Given the description of an element on the screen output the (x, y) to click on. 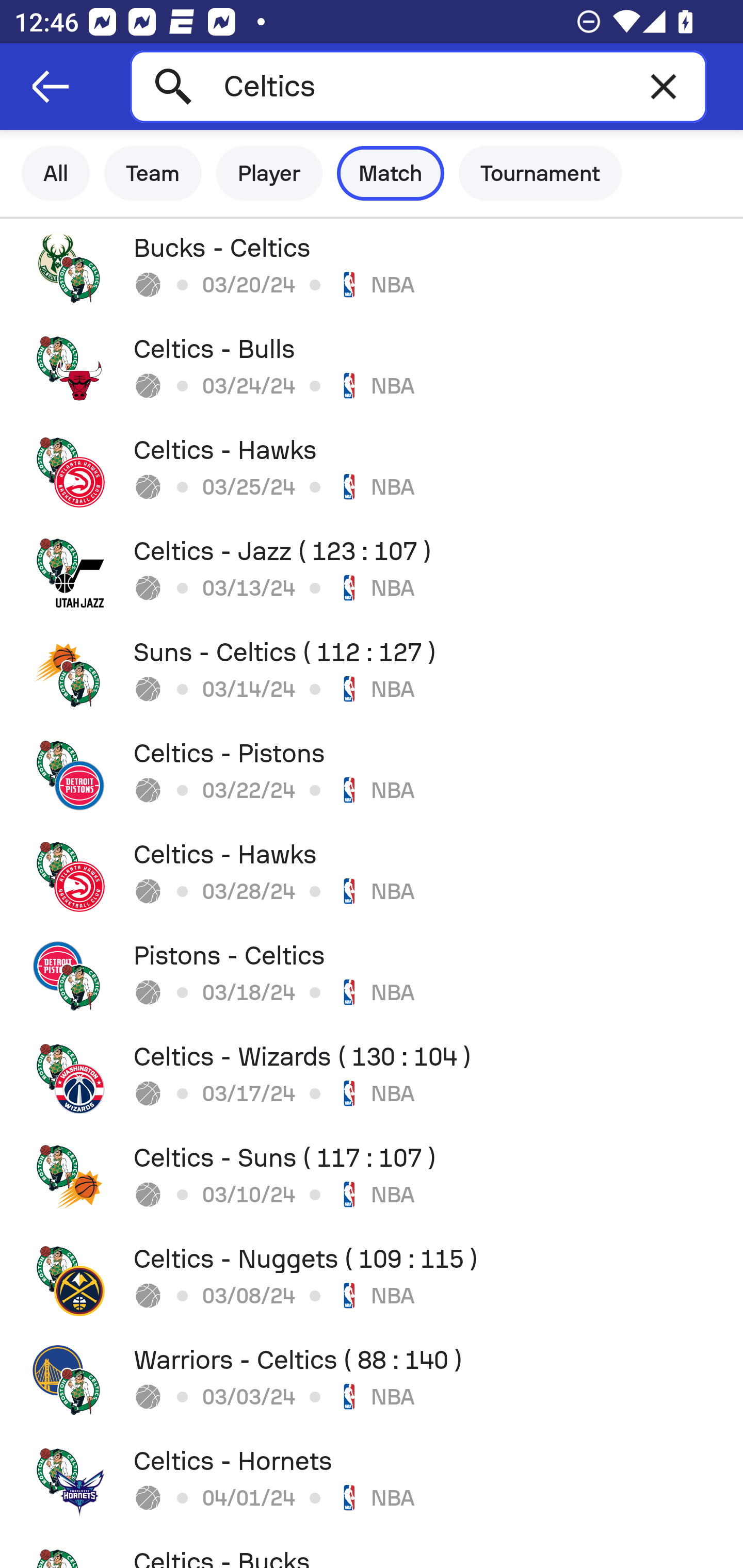
Navigate up (50, 86)
Celtics (418, 86)
Clear text (663, 86)
All (55, 172)
Team (152, 172)
Player (268, 172)
Match (390, 172)
Tournament (540, 172)
Bucks - Celtics 03/20/24 NBA (371, 268)
Celtics - Bulls 03/24/24 NBA (371, 369)
Celtics - Hawks 03/25/24 NBA (371, 471)
Celtics - Jazz ( 123 : 107 ) 03/13/24 NBA (371, 572)
Suns - Celtics ( 112 : 127 ) 03/14/24 NBA (371, 673)
Celtics - Pistons 03/22/24 NBA (371, 774)
Celtics - Hawks 03/28/24 NBA (371, 875)
Pistons - Celtics 03/18/24 NBA (371, 976)
Celtics - Wizards ( 130 : 104 ) 03/17/24 NBA (371, 1077)
Celtics - Suns ( 117 : 107 ) 03/10/24 NBA (371, 1178)
Celtics - Nuggets ( 109 : 115 ) 03/08/24 NBA (371, 1280)
Warriors - Celtics ( 88 : 140 ) 03/03/24 NBA (371, 1381)
Celtics - Hornets 04/01/24 NBA (371, 1482)
